Given the description of an element on the screen output the (x, y) to click on. 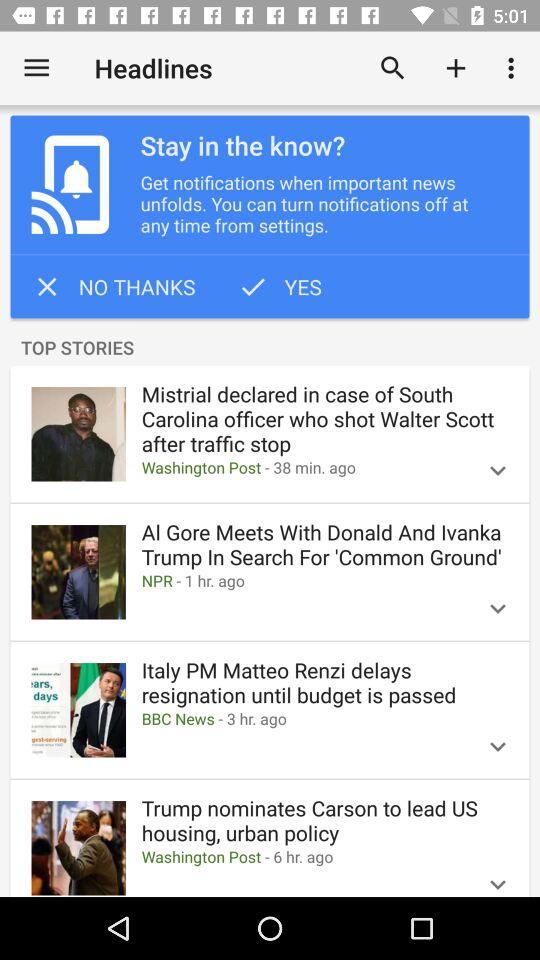
launch al gore meets item (324, 544)
